Given the description of an element on the screen output the (x, y) to click on. 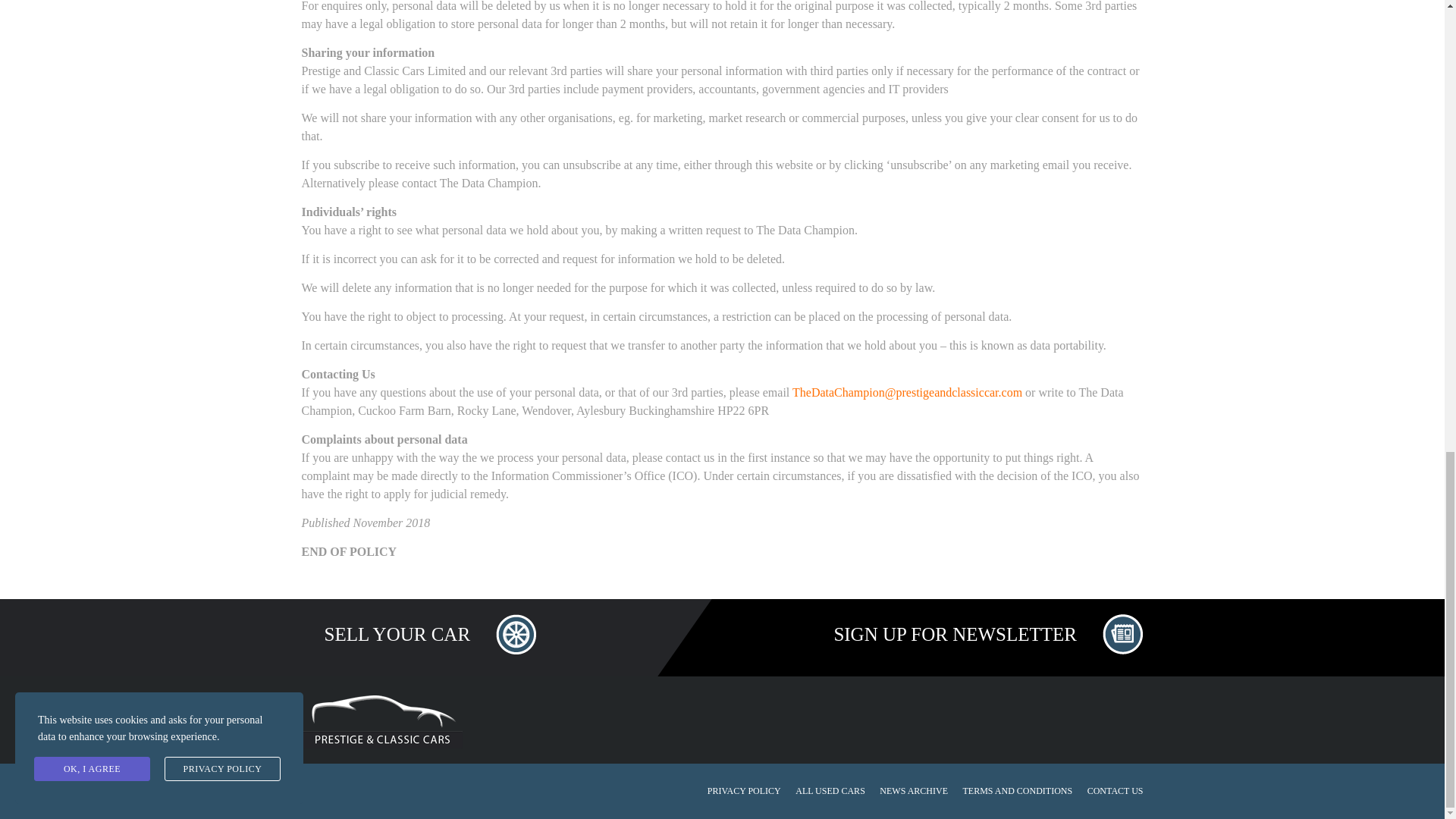
TERMS AND CONDITIONS (1016, 790)
CONTACT US (1114, 790)
PRIVACY POLICY (743, 790)
ALL USED CARS (829, 790)
NEWS ARCHIVE (913, 790)
SELL YOUR CAR (419, 634)
SIGN UP FOR NEWSLETTER (976, 634)
